Given the description of an element on the screen output the (x, y) to click on. 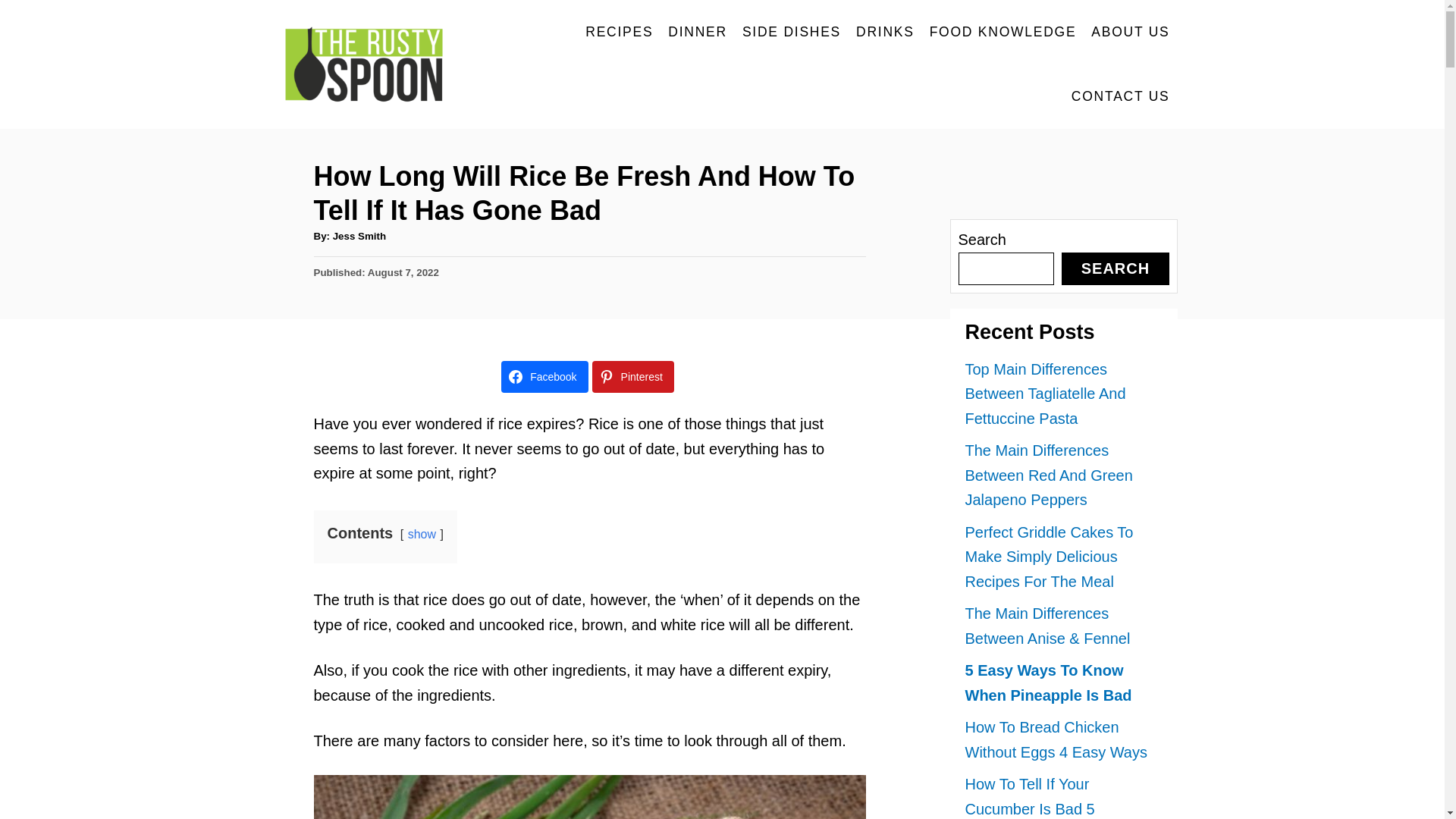
DINNER (698, 32)
The Rusty Spoon (371, 64)
Share on Pinterest (633, 377)
DRINKS (884, 32)
Share on Facebook (544, 377)
FOOD KNOWLEDGE (1002, 32)
RECIPES (619, 32)
SIDE DISHES (791, 32)
